Given the description of an element on the screen output the (x, y) to click on. 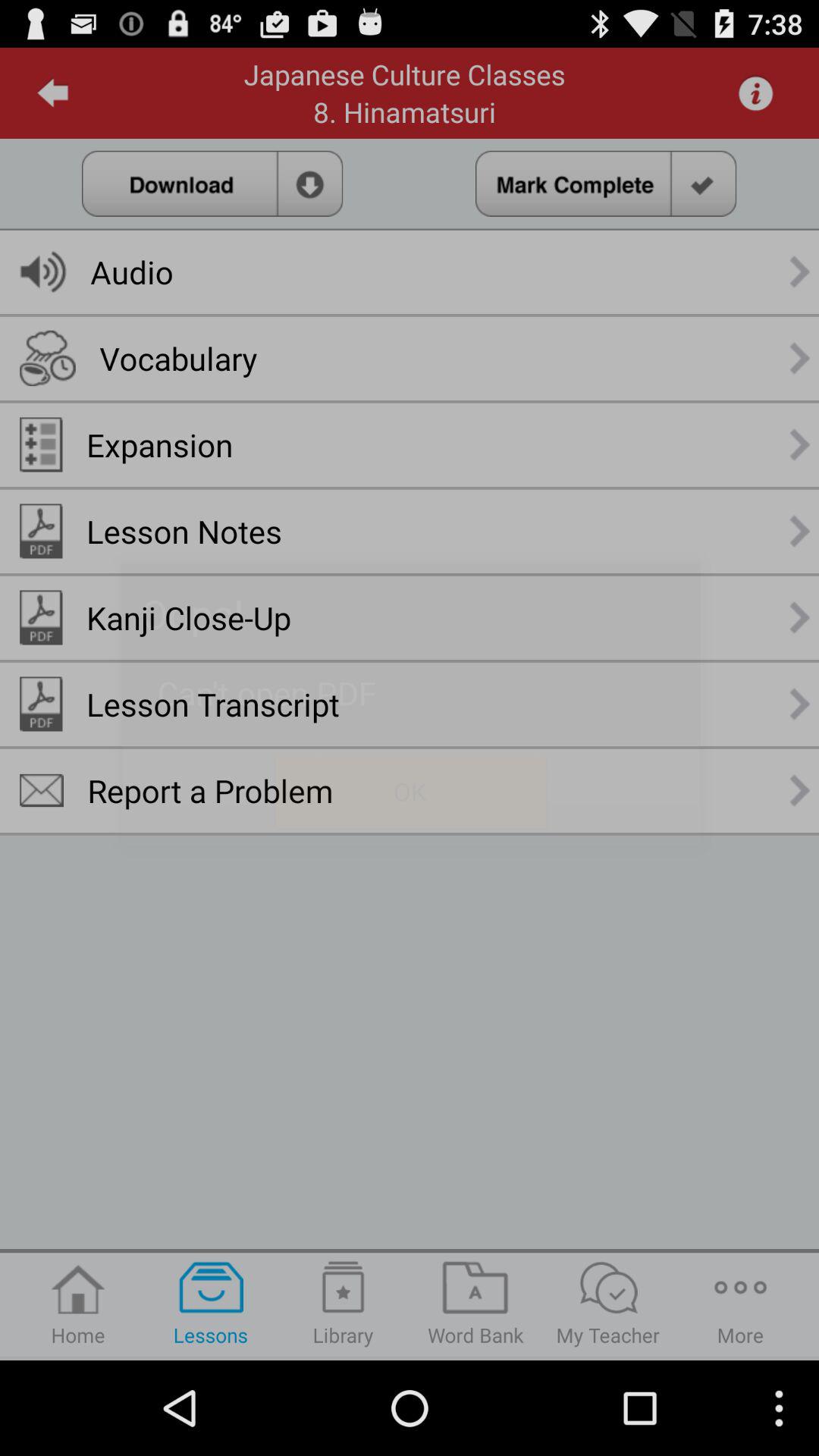
turn off the item above kanji close-up app (184, 531)
